Given the description of an element on the screen output the (x, y) to click on. 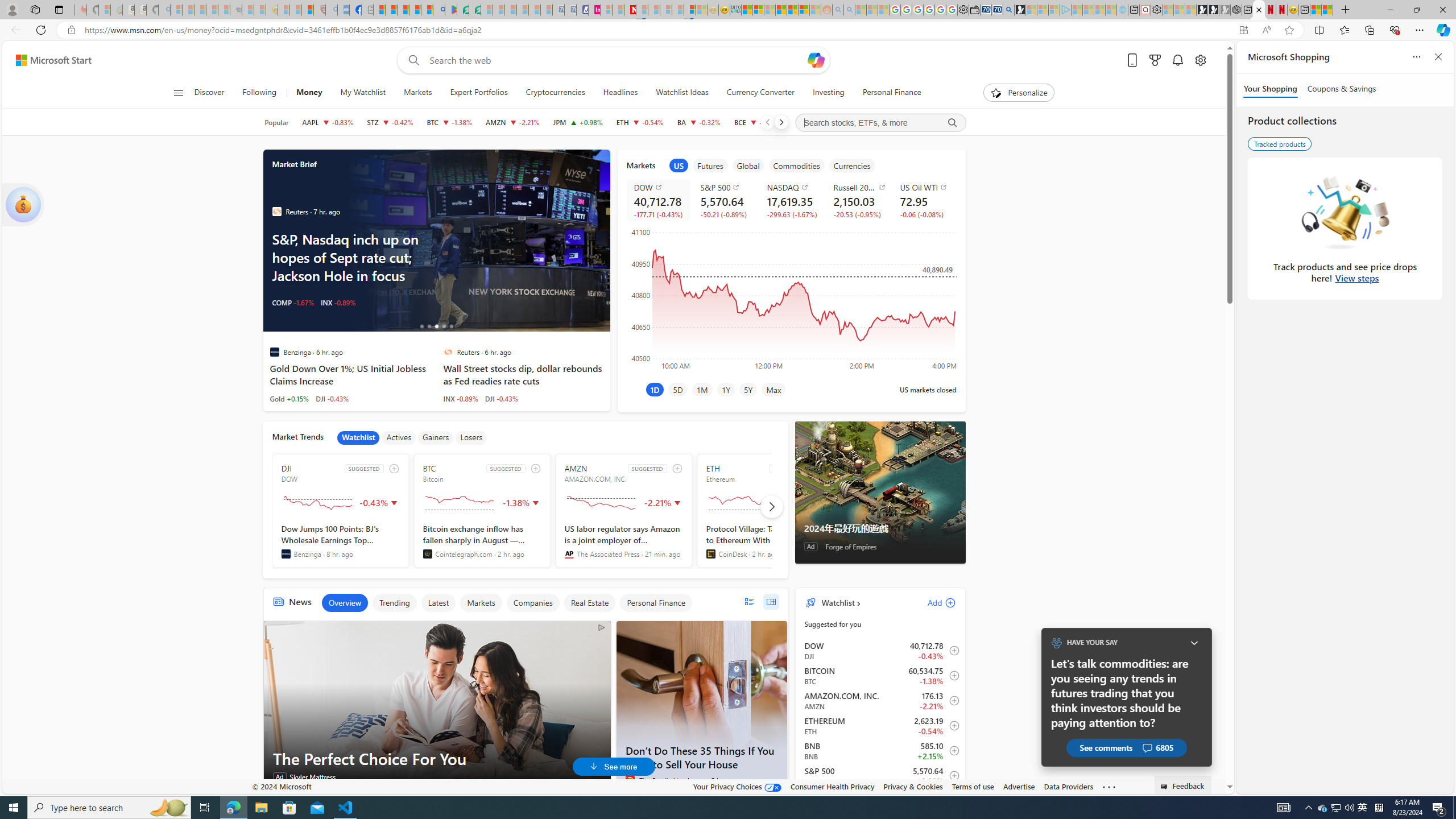
Local - MSN (307, 9)
Enter your search term (617, 59)
Open settings (1199, 60)
The Perfect Choice For You (437, 705)
Markets (481, 602)
